Given the description of an element on the screen output the (x, y) to click on. 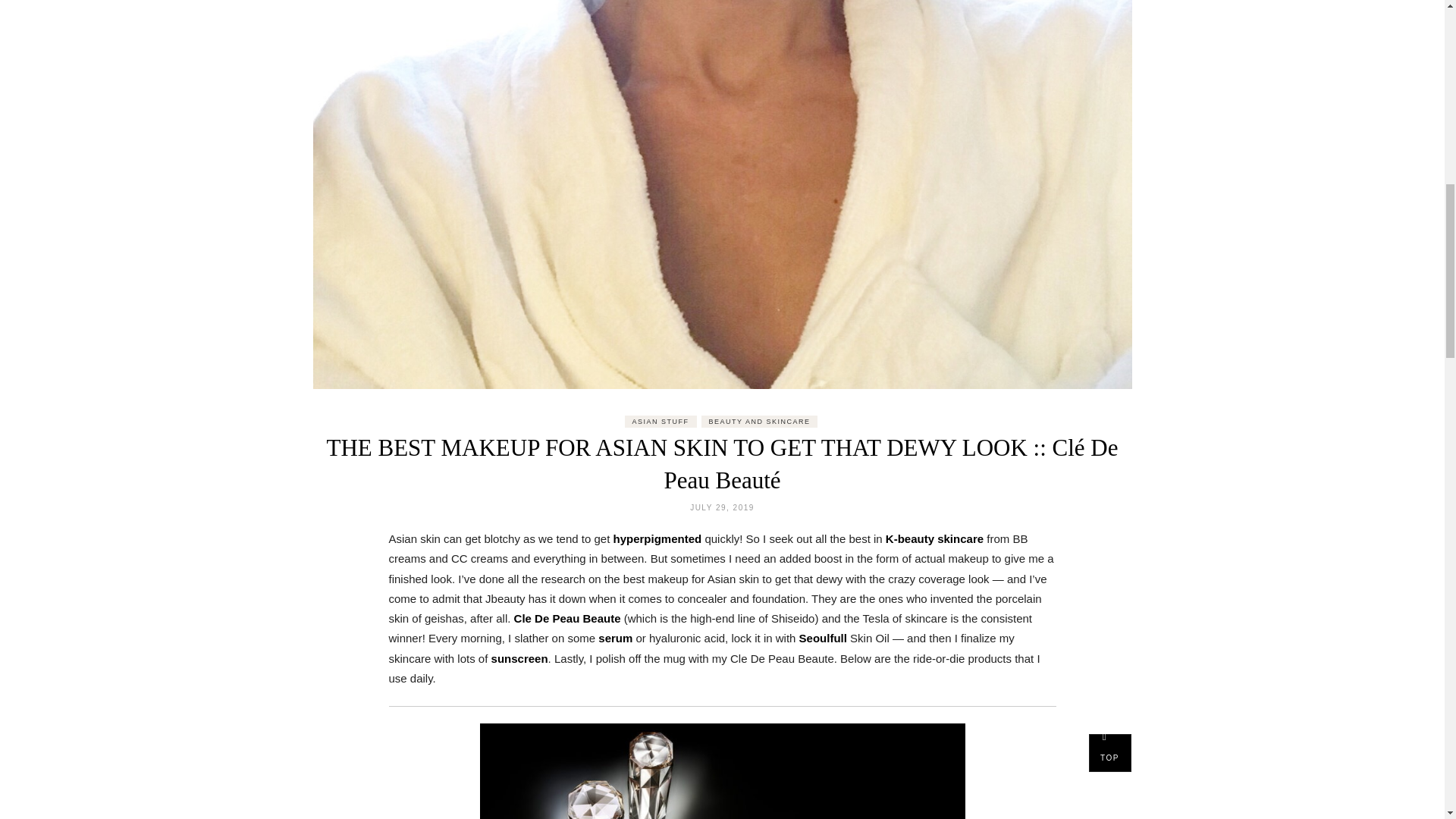
K-beauty skincare (934, 538)
BEAUTY AND SKINCARE (759, 421)
JULY 29, 2019 (722, 507)
ASIAN STUFF (660, 421)
hyperpigmented (658, 538)
Cle De Peau Beaute (567, 617)
sunscreen (520, 658)
serum (614, 637)
Seoulfull (824, 637)
